Given the description of an element on the screen output the (x, y) to click on. 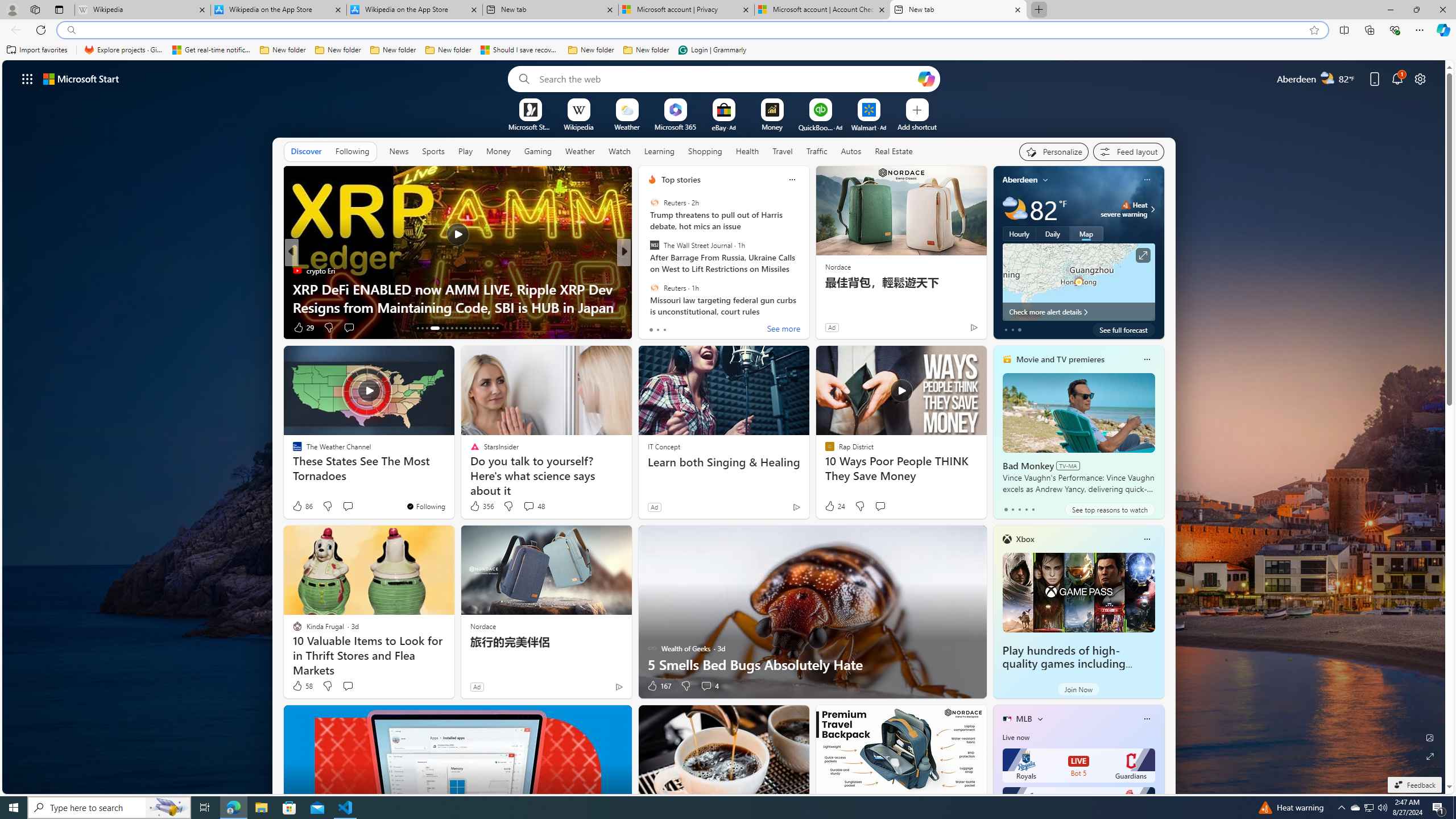
Notifications (1397, 78)
Open Copilot (926, 78)
Microsoft account | Account Checkup (822, 9)
86 Like (301, 505)
View comments 5 Comment (702, 327)
More options (1146, 718)
Larger map  (1077, 282)
Open Copilot (925, 78)
Discover (306, 151)
Travel (782, 151)
Shopping (705, 151)
Wikipedia (578, 126)
New folder (646, 49)
